Given the description of an element on the screen output the (x, y) to click on. 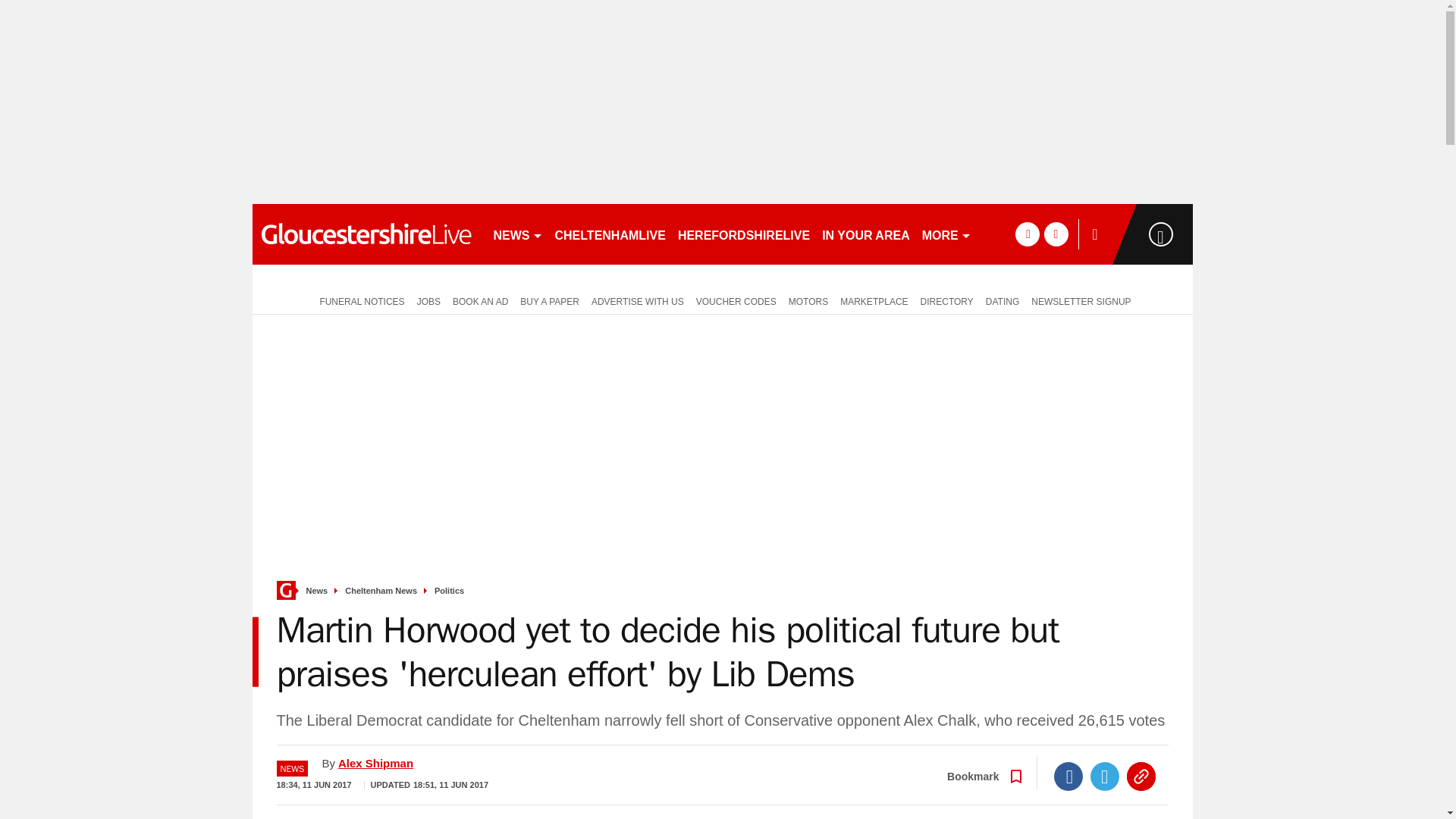
Twitter (1104, 776)
HEREFORDSHIRELIVE (743, 233)
twitter (1055, 233)
IN YOUR AREA (865, 233)
gloucestershirelive (365, 233)
NEWS (517, 233)
MORE (945, 233)
facebook (1026, 233)
CHELTENHAMLIVE (609, 233)
Facebook (1068, 776)
